Given the description of an element on the screen output the (x, y) to click on. 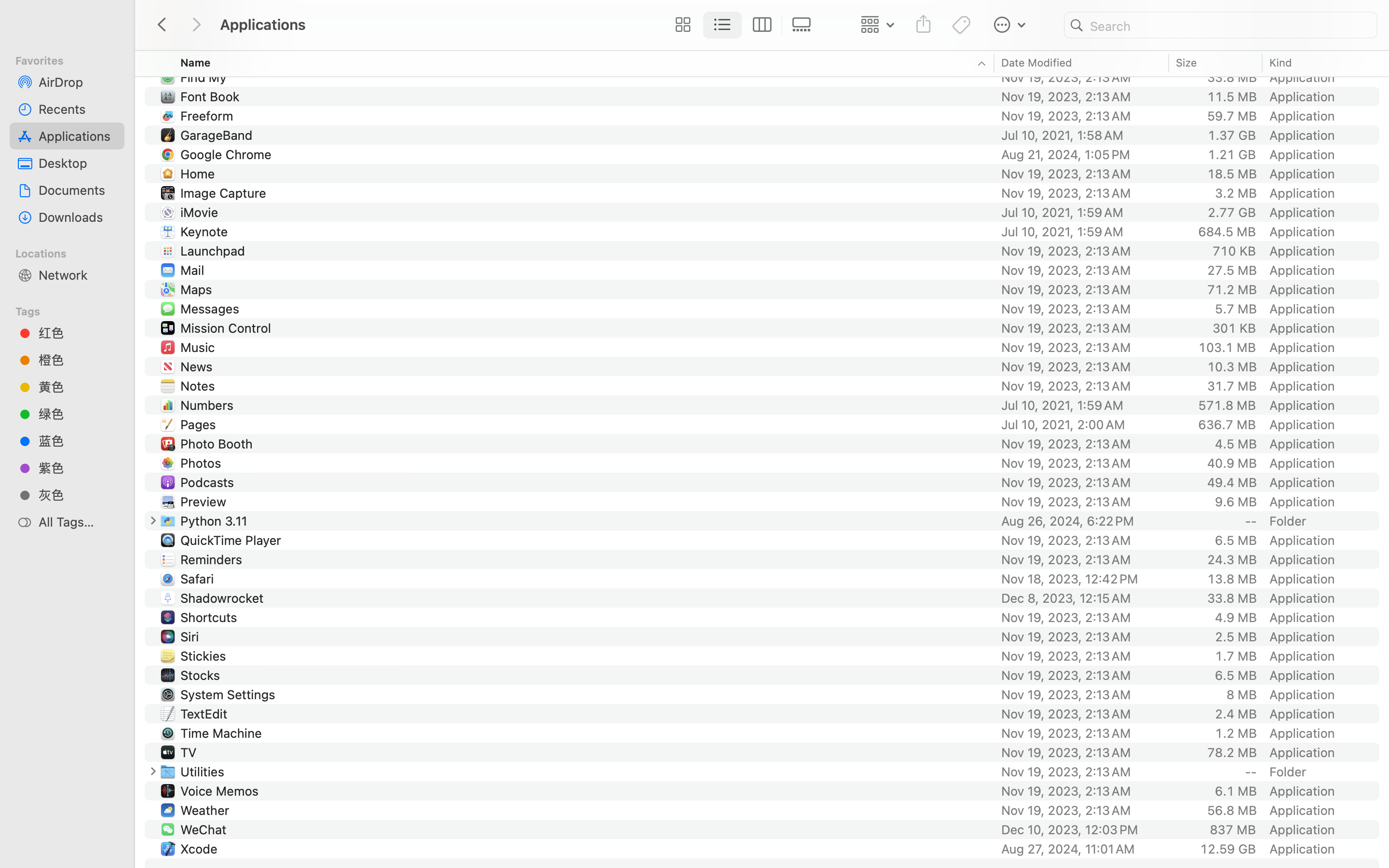
<AXUIElement 0x12643af70> {pid=510} Element type: AXRadioGroup (741, 24)
Recents Element type: AXStaticText (77, 108)
Reminders Element type: AXTextField (213, 559)
4.9 MB Element type: AXStaticText (1235, 616)
0 Element type: AXRadioButton (680, 24)
